Given the description of an element on the screen output the (x, y) to click on. 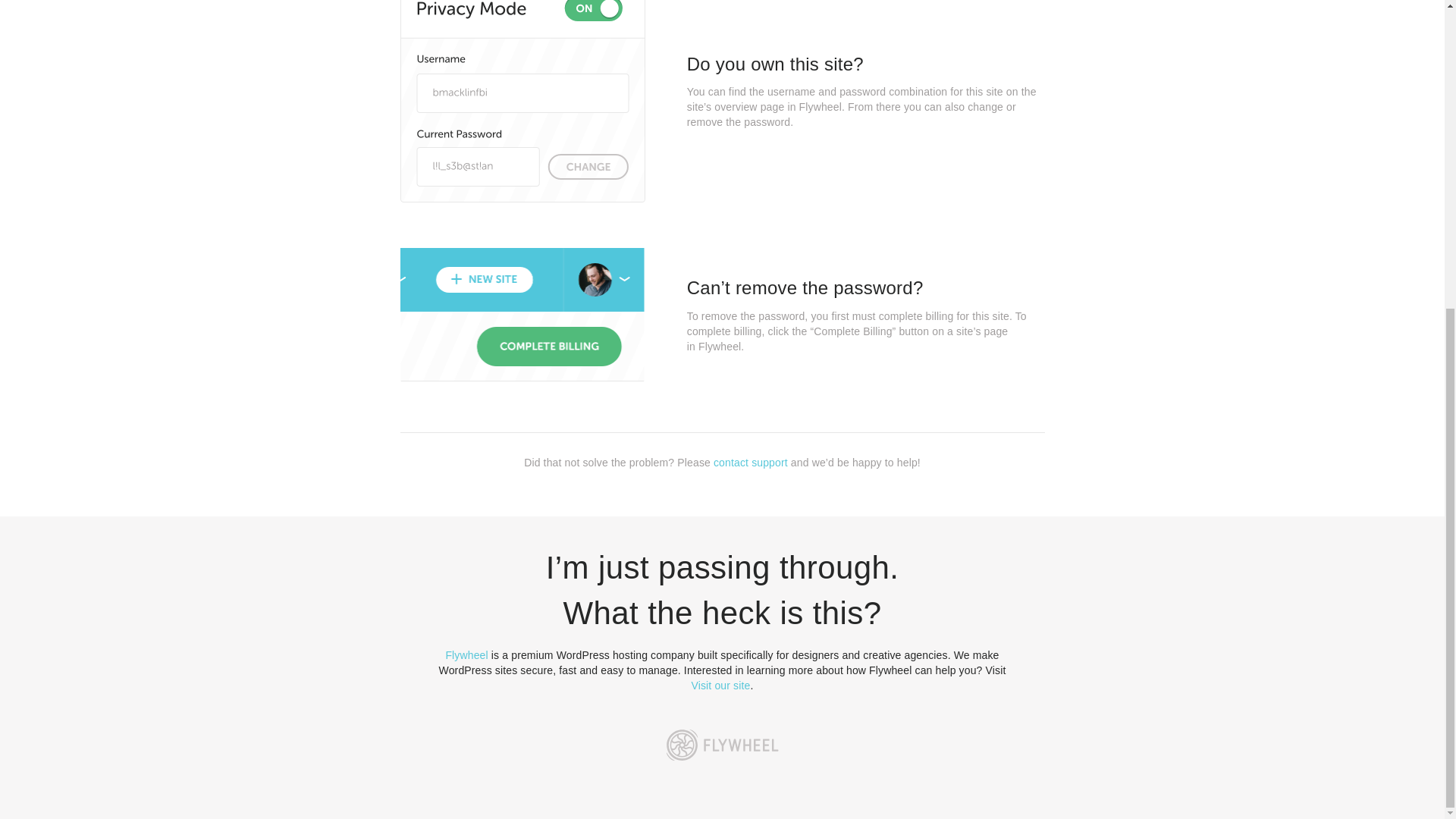
Flywheel (466, 654)
Visit our site (721, 685)
contact support (750, 462)
